Given the description of an element on the screen output the (x, y) to click on. 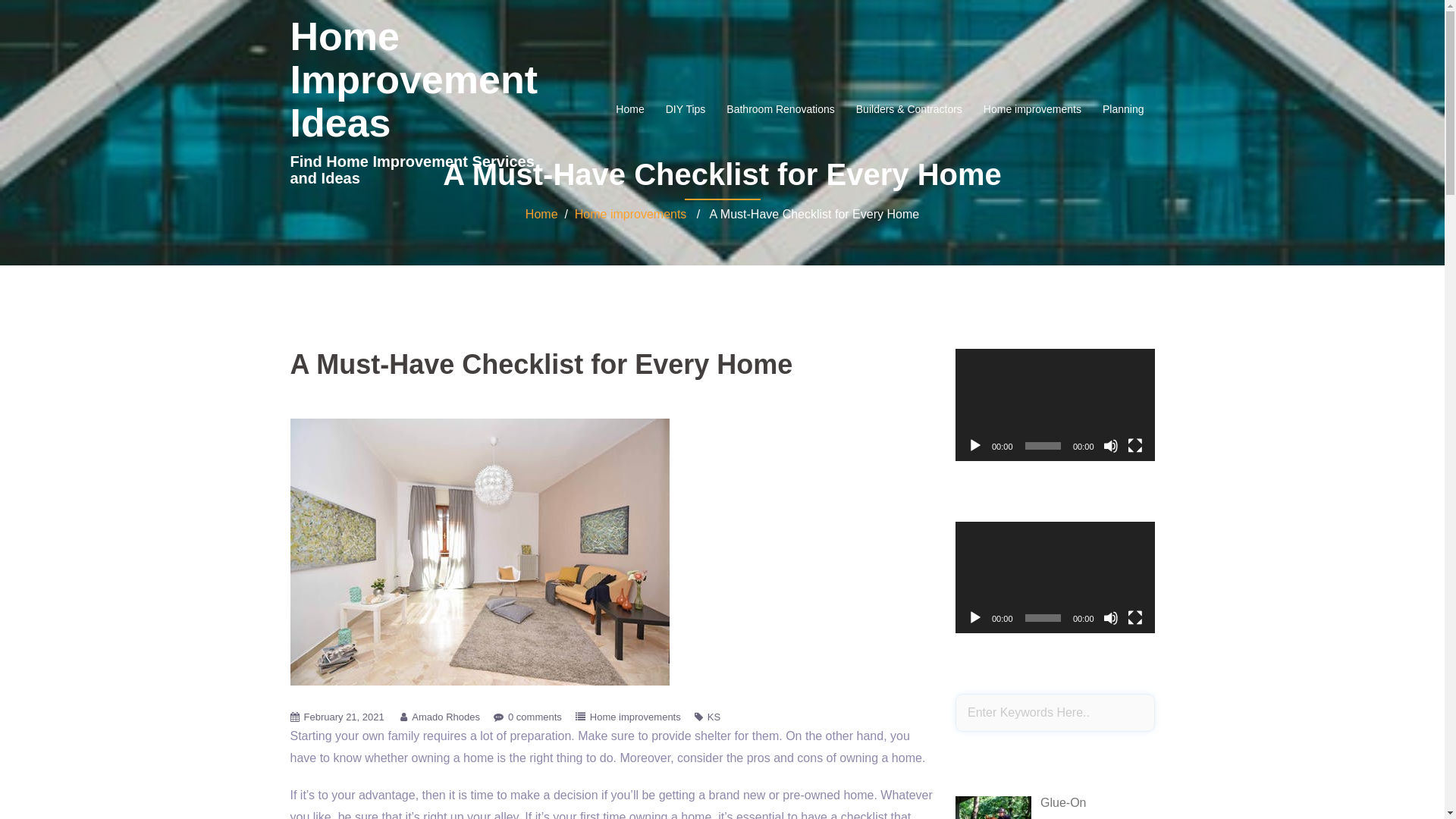
Fullscreen Element type: hover (1134, 617)
Home improvements Element type: text (1032, 109)
DIY Tips Element type: text (685, 109)
Home Element type: text (629, 109)
Bathroom Renovations Element type: text (780, 109)
Play Element type: hover (974, 445)
Play Element type: hover (974, 617)
Home improvements Element type: text (634, 716)
Mute Element type: hover (1109, 617)
KS Element type: text (713, 716)
February 21, 2021 Element type: text (343, 716)
Home Improvement Ideas Element type: text (413, 79)
Search Element type: text (50, 18)
Builders & Contractors Element type: text (909, 109)
Home improvements Element type: text (630, 213)
Planning Element type: text (1123, 109)
0 comments Element type: text (534, 716)
Amado Rhodes Element type: text (445, 716)
Fullscreen Element type: hover (1134, 445)
Mute Element type: hover (1109, 445)
Home Element type: text (541, 213)
